Given the description of an element on the screen output the (x, y) to click on. 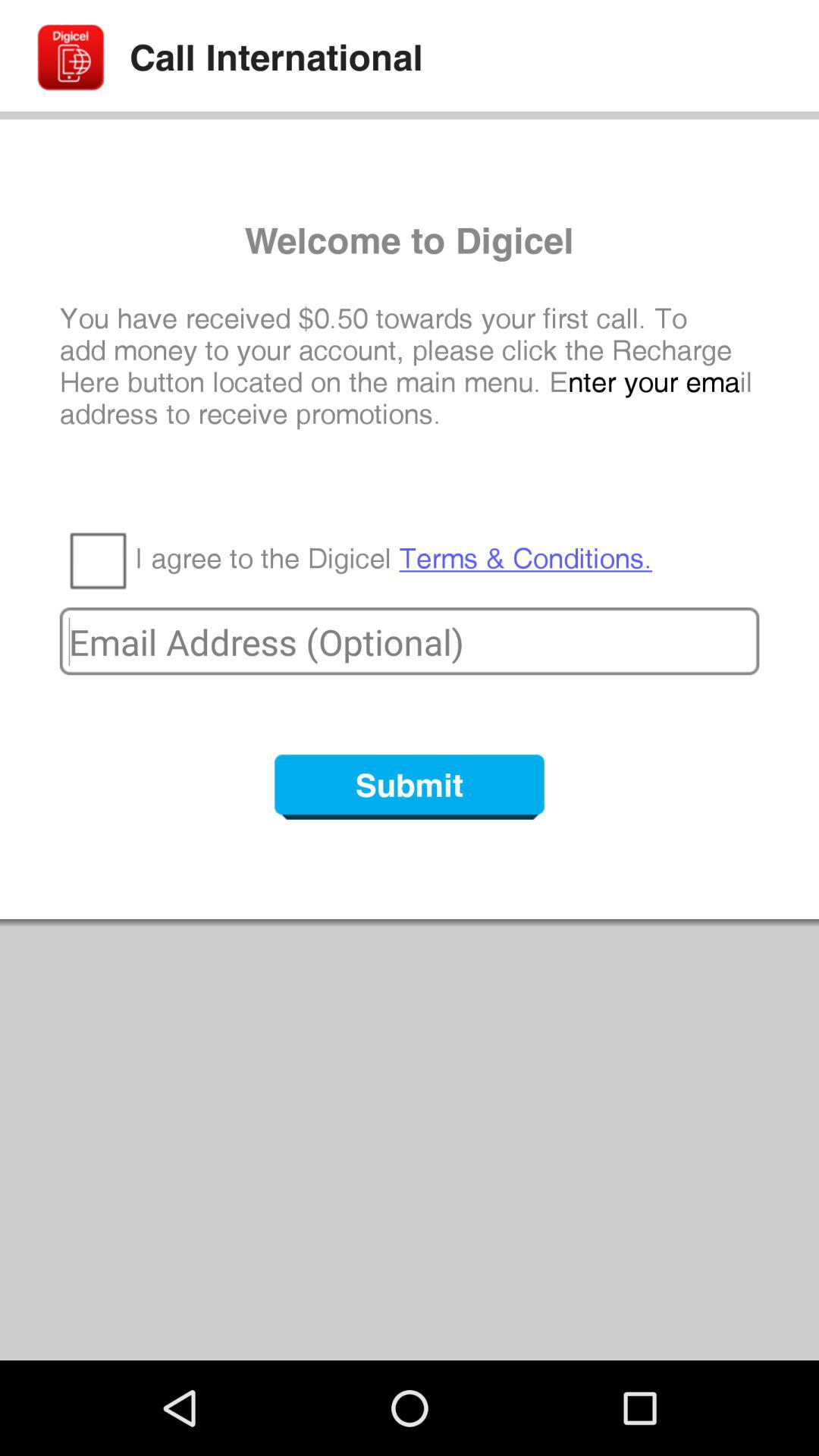
click the submit button (409, 786)
